Given the description of an element on the screen output the (x, y) to click on. 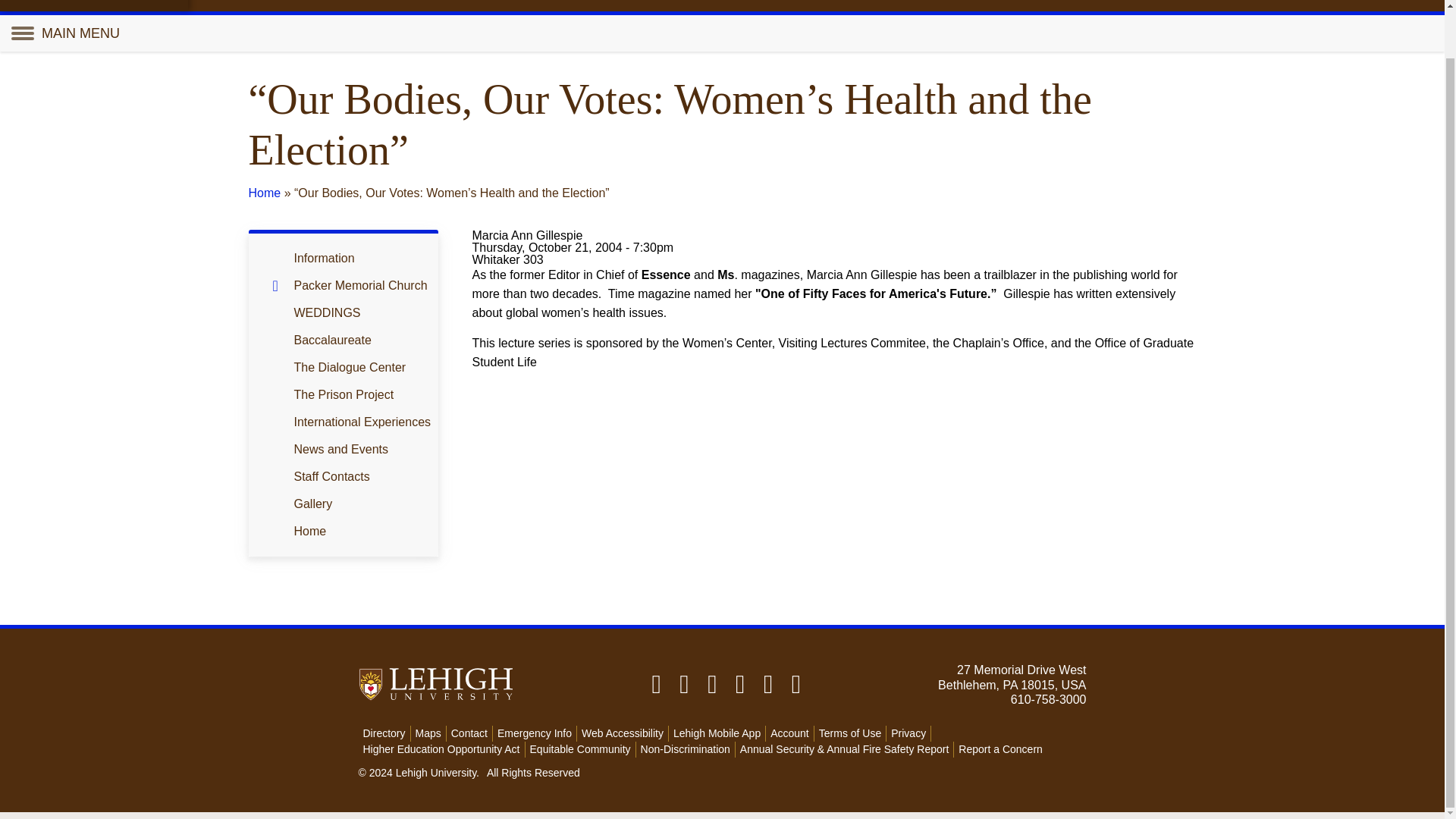
Privacy Statement (632, 791)
The Dialogue Center (363, 367)
WEDDINGS (363, 312)
Home (264, 192)
Packer Memorial Church (348, 285)
Weddings and Renewals in Packer Memorial Church (363, 312)
Information (363, 257)
Baccalaureate (363, 339)
